Given the description of an element on the screen output the (x, y) to click on. 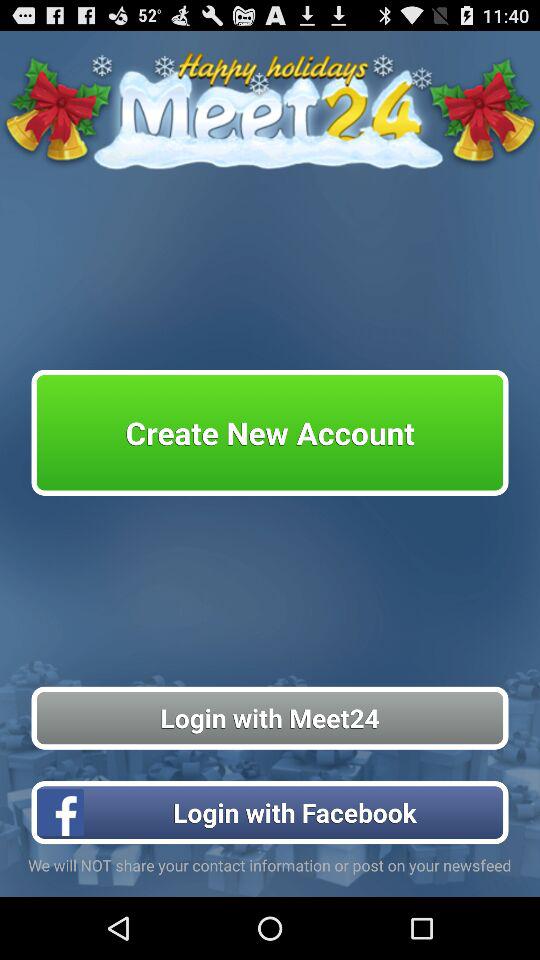
tap create new account at the center (269, 432)
